Given the description of an element on the screen output the (x, y) to click on. 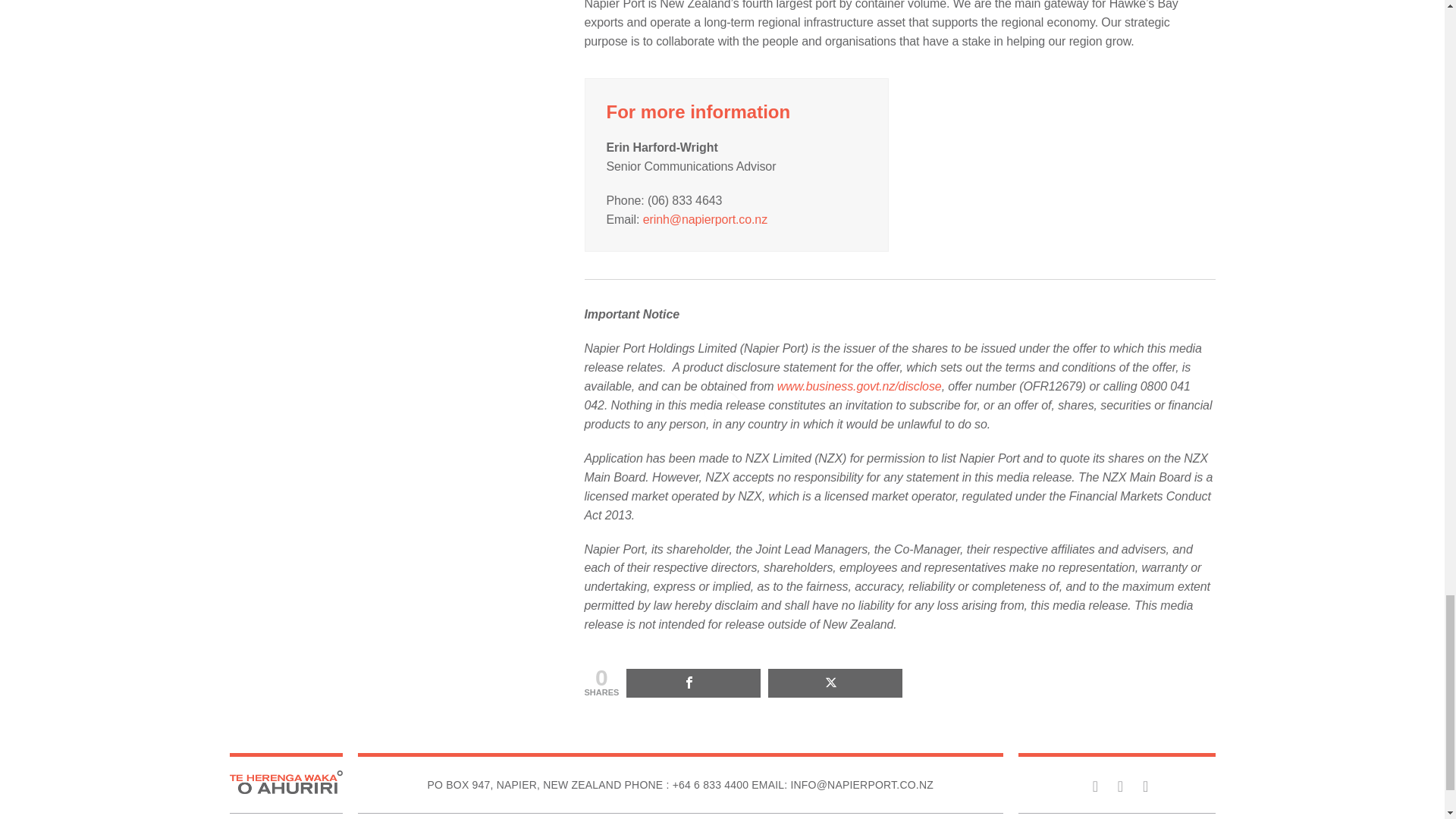
Contact US (710, 784)
Mail Us (842, 784)
